Given the description of an element on the screen output the (x, y) to click on. 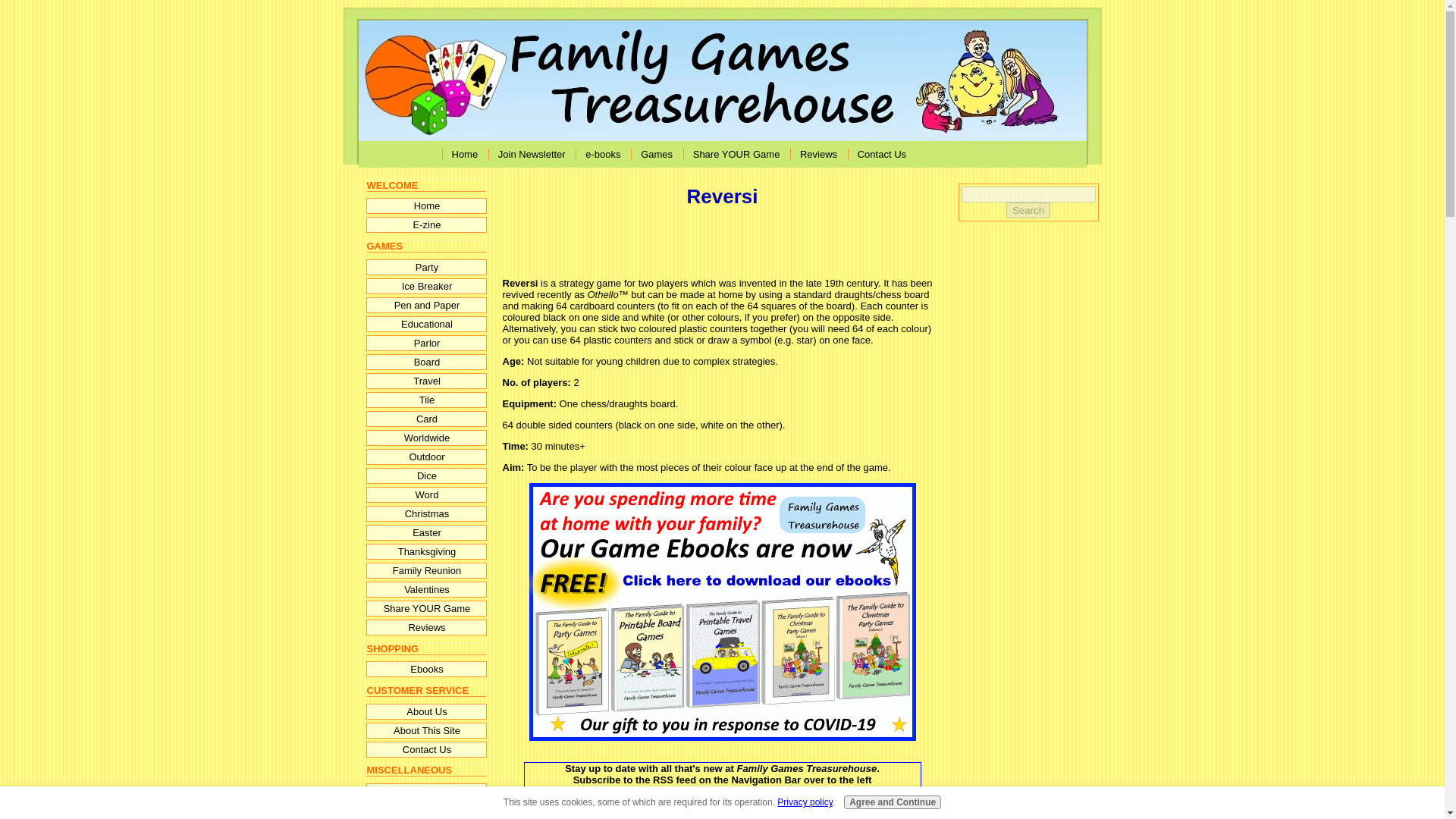
Share YOUR Game (735, 154)
Advertisement (679, 244)
Home (464, 154)
e-books (601, 154)
Search (1027, 210)
Games (655, 154)
Contact Us (880, 154)
Reviews (817, 154)
Join Newsletter (531, 154)
